Given the description of an element on the screen output the (x, y) to click on. 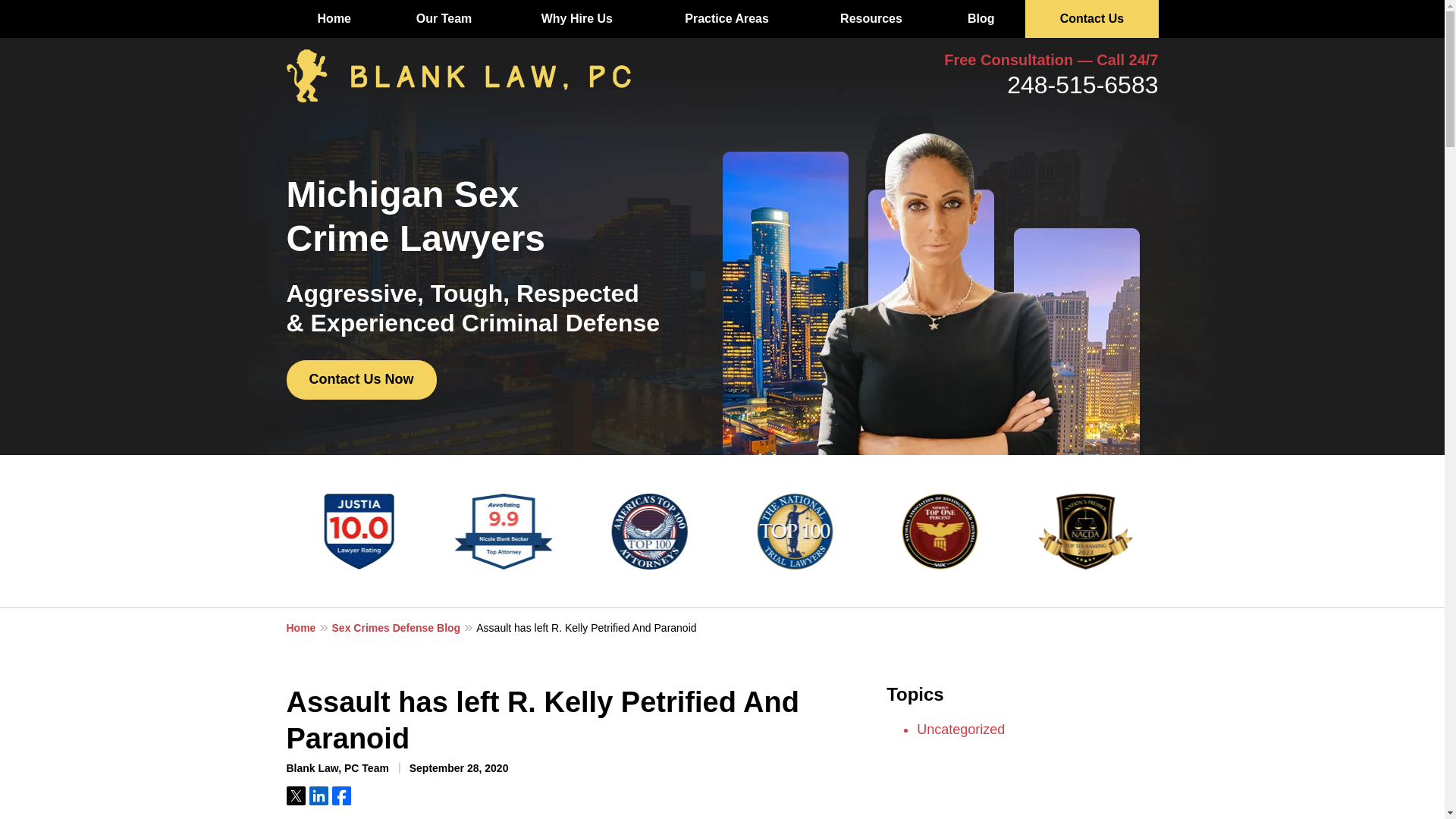
Uncategorized (960, 729)
Blog (980, 18)
Share (340, 795)
Contact Us (1091, 18)
Sex Crimes Defense Blog (404, 627)
Contact Us Now (361, 379)
Practice Areas (726, 18)
Share (318, 795)
248-515-6583 (1082, 84)
Our Team (443, 18)
Home (308, 627)
Tweet (295, 795)
Home (334, 18)
Why Hire Us (576, 18)
Resources (871, 18)
